Given the description of an element on the screen output the (x, y) to click on. 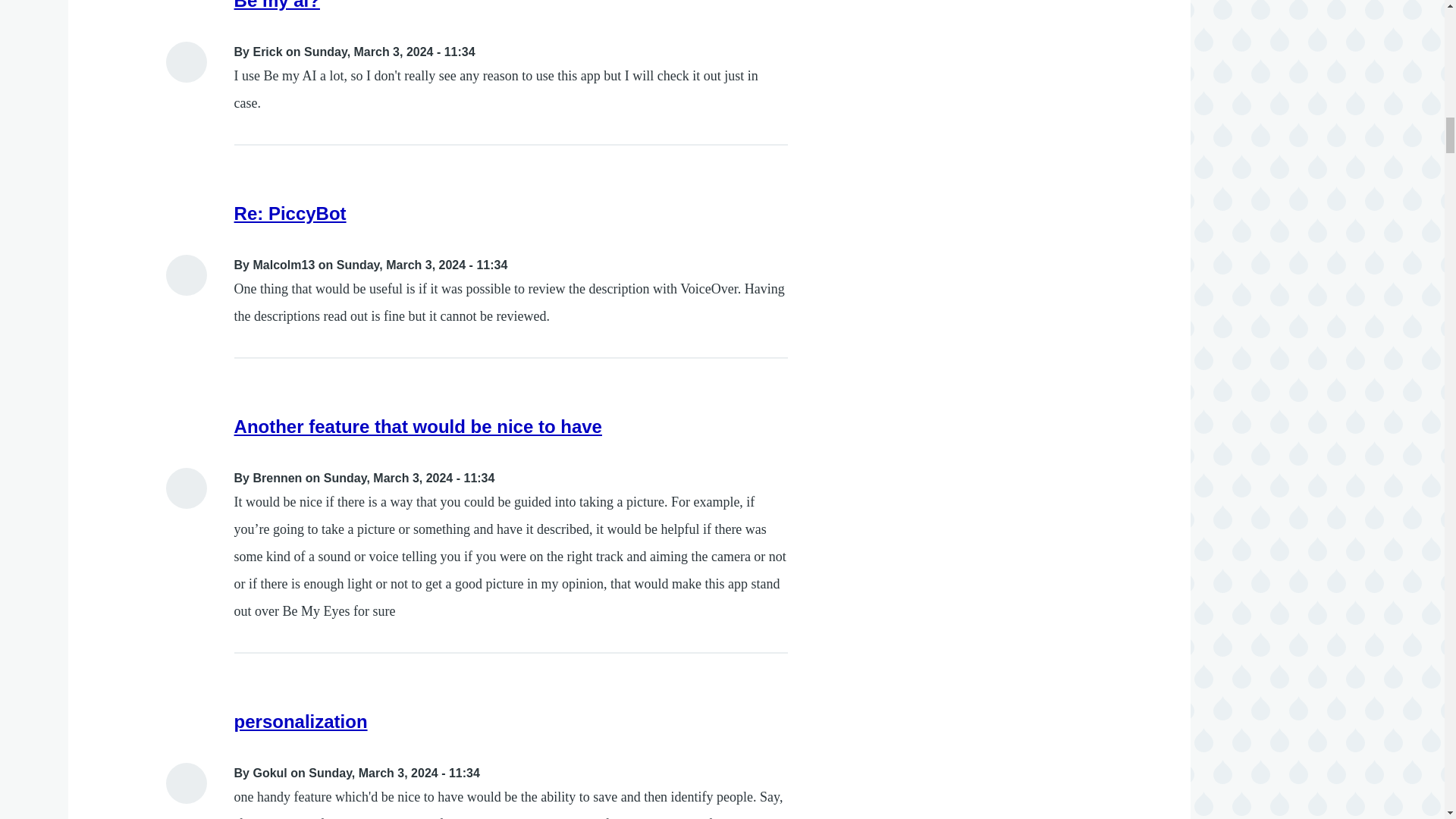
Be my ai? (277, 5)
Re: PiccyBot (290, 213)
Another feature that would be nice to have (418, 426)
personalization (301, 721)
